Given the description of an element on the screen output the (x, y) to click on. 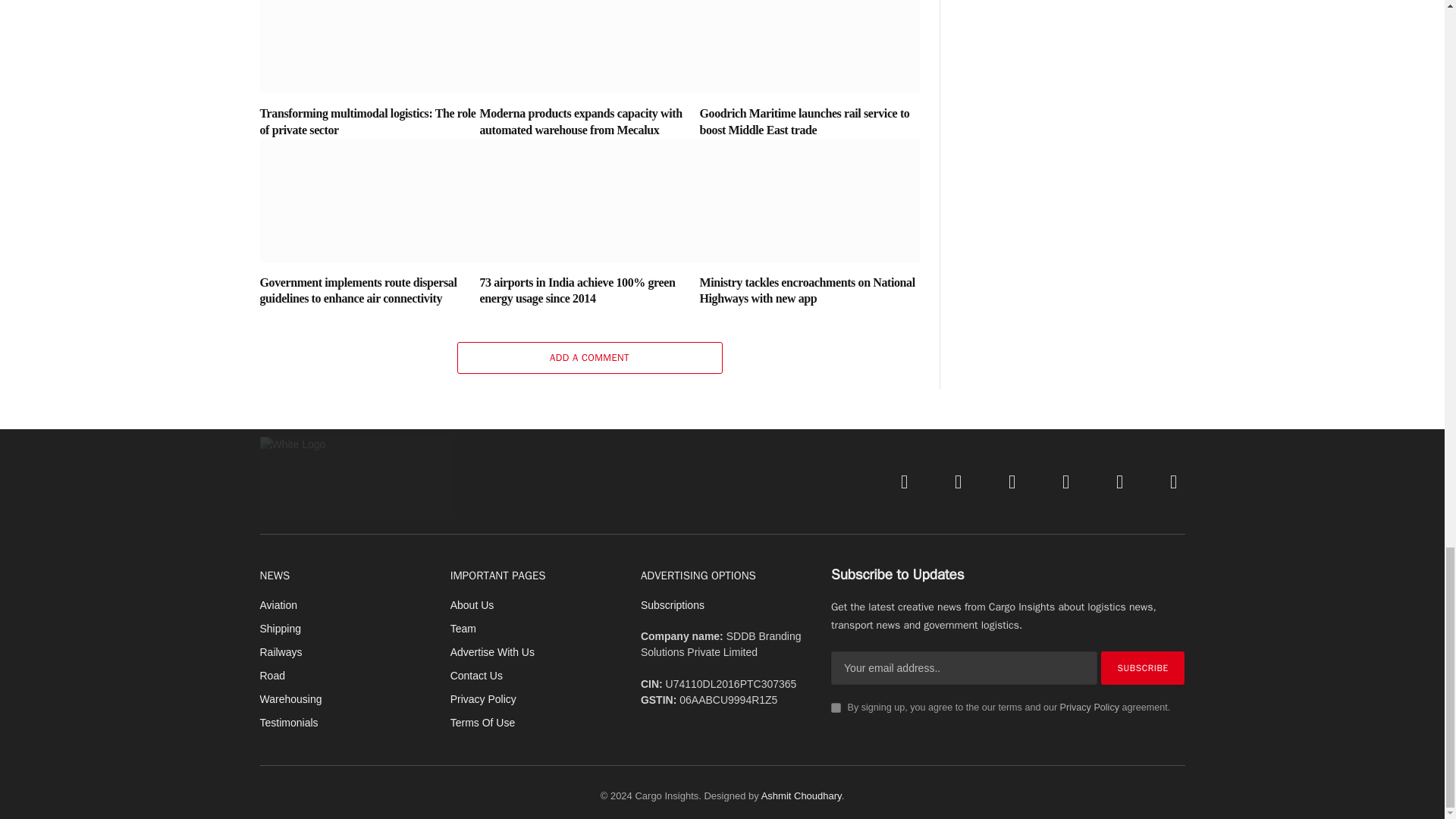
on (836, 707)
Subscribe (1142, 667)
